Given the description of an element on the screen output the (x, y) to click on. 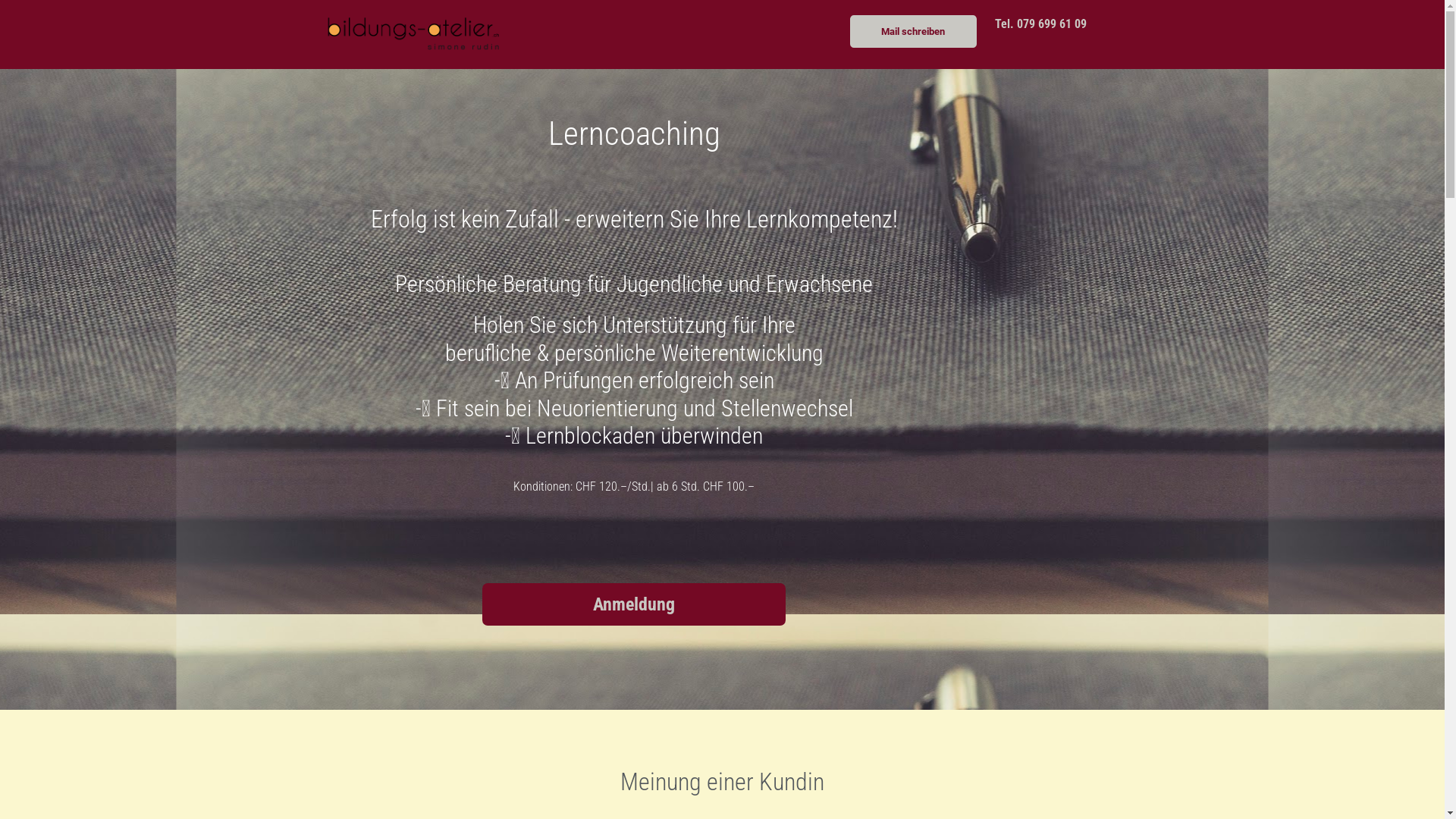
Anmeldung Element type: text (633, 604)
Mail schreiben Element type: text (913, 31)
